Given the description of an element on the screen output the (x, y) to click on. 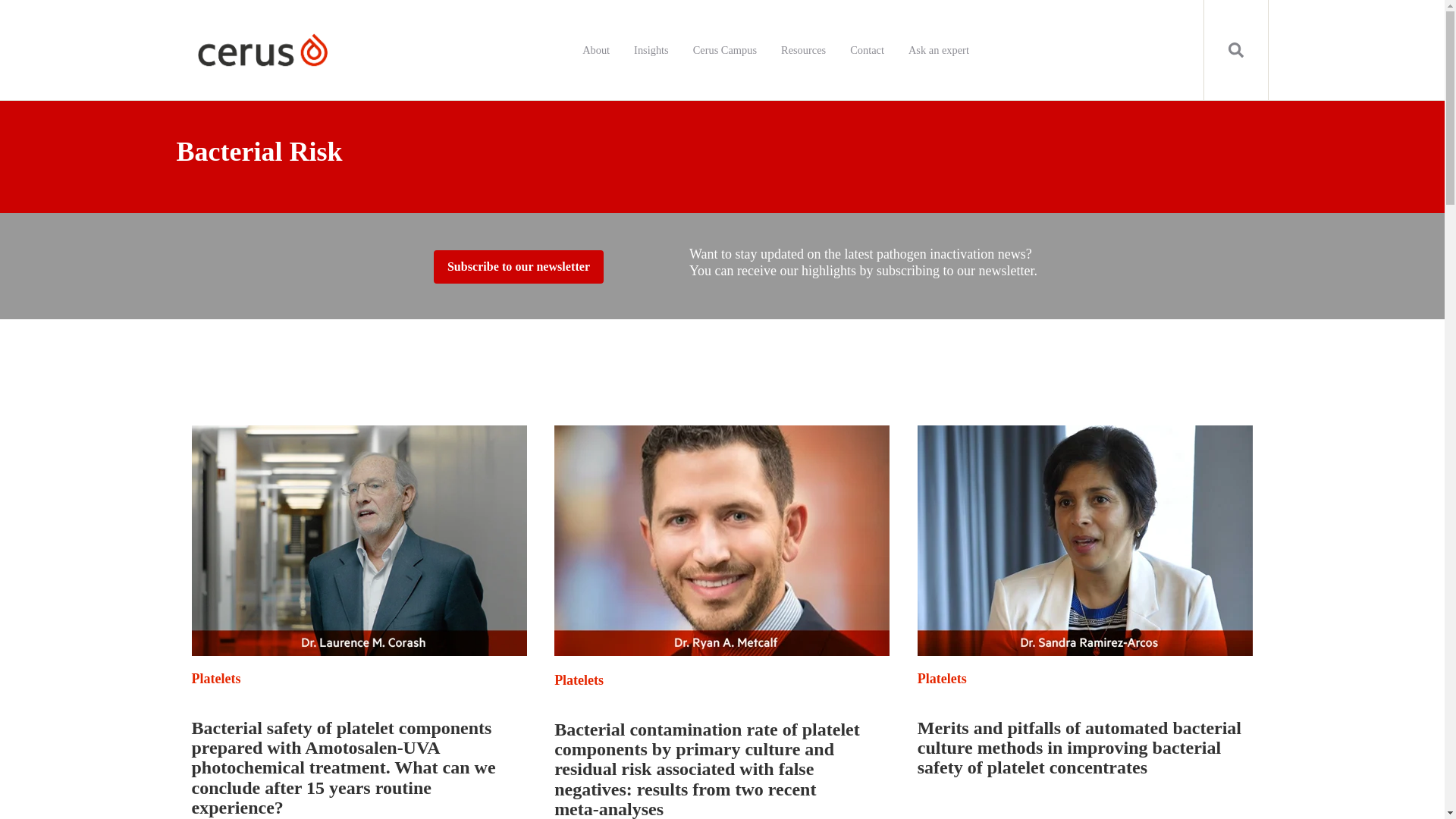
Subscribe to our newsletter (518, 266)
